Given the description of an element on the screen output the (x, y) to click on. 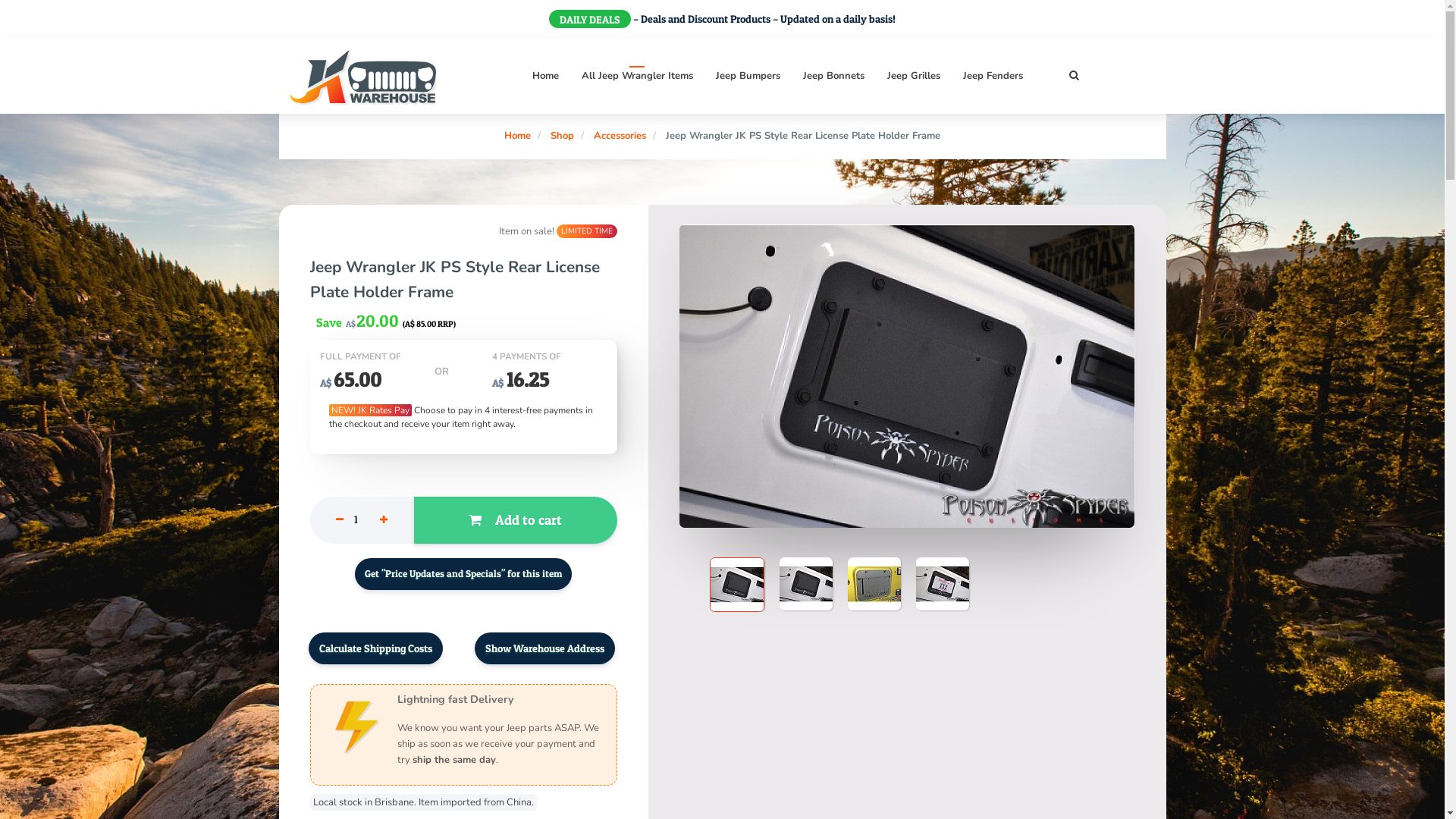
Jeep Grilles Element type: text (913, 75)
Jeep Bonnets Element type: text (832, 75)
Calculate Shipping Costs Element type: text (374, 648)
All Jeep Wrangler Items Element type: text (636, 75)
Get "Price Updates and Specials" for this item Element type: text (462, 573)
Home Element type: text (517, 135)
Add to cart Element type: text (516, 519)
Jeep Wrangler JK PS Style Rear License Plate Holder Frame Element type: text (802, 135)
Accessories Element type: text (619, 135)
Shop Element type: text (562, 135)
Home Element type: text (545, 75)
Jeep Fenders Element type: text (992, 75)
Show Warehouse Address Element type: text (544, 648)
Jeep Bumpers Element type: text (747, 75)
